Given the description of an element on the screen output the (x, y) to click on. 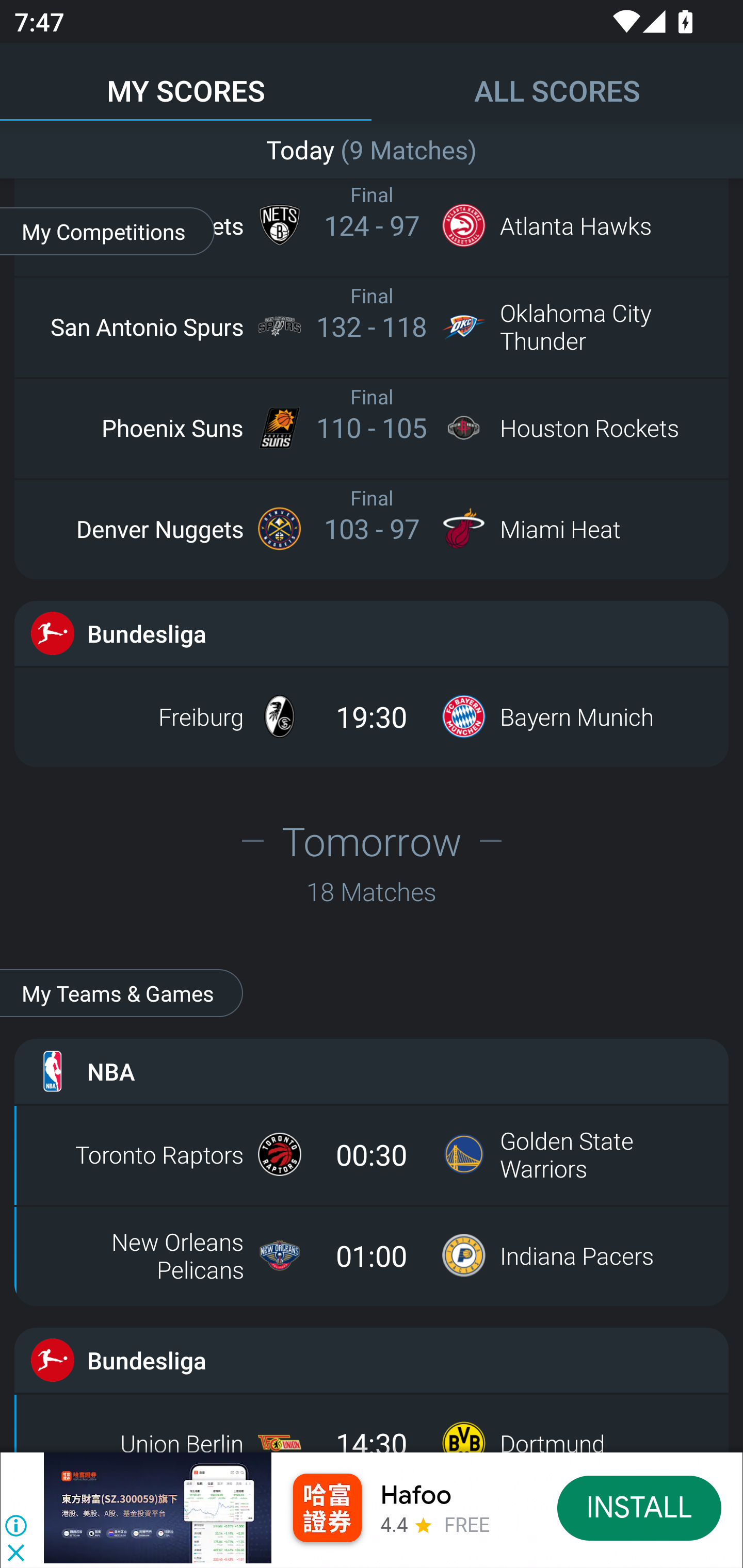
MY SCORES (185, 81)
ALL SCORES (557, 81)
Charlotte Hornets 99 - 111 Milwaukee Bucks (371, 147)
Brooklyn Nets Final 124 - 97 Atlanta Hawks (371, 225)
Phoenix Suns Final 110 - 105 Houston Rockets (371, 427)
Denver Nuggets Final 103 - 97 Miami Heat (371, 528)
Bundesliga (371, 633)
Freiburg 19:30 Bayern Munich (371, 716)
NBA (371, 1070)
Toronto Raptors 00:30 Golden State Warriors (371, 1153)
New Orleans Pelicans 01:00 Indiana Pacers (371, 1255)
Bundesliga (371, 1360)
Union Berlin 14:30 Dortmund (371, 1427)
INSTALL (639, 1507)
Hafoo (416, 1494)
